Given the description of an element on the screen output the (x, y) to click on. 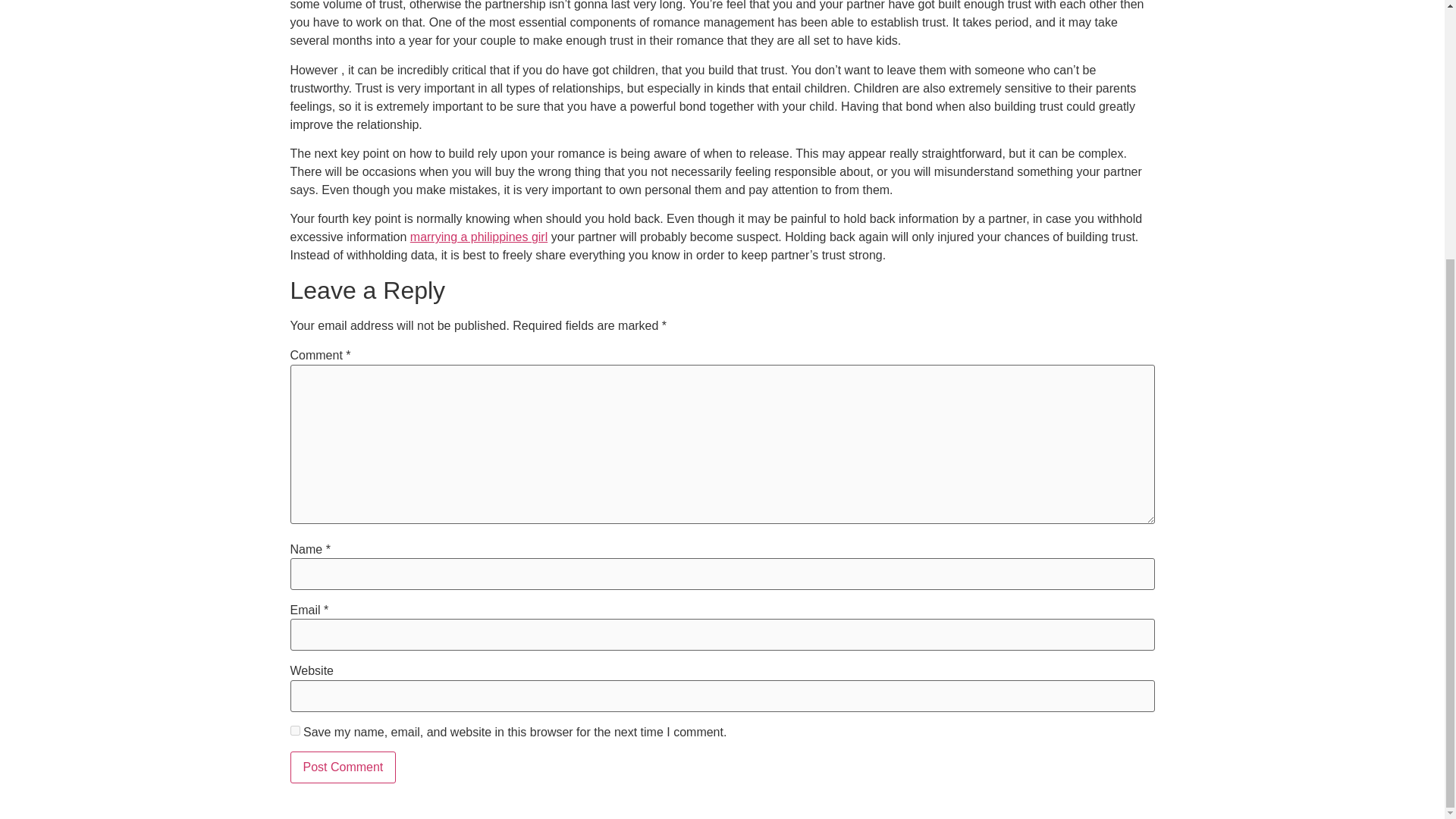
marrying a philippines girl (478, 236)
yes (294, 730)
Post Comment (342, 766)
Post Comment (342, 766)
